Given the description of an element on the screen output the (x, y) to click on. 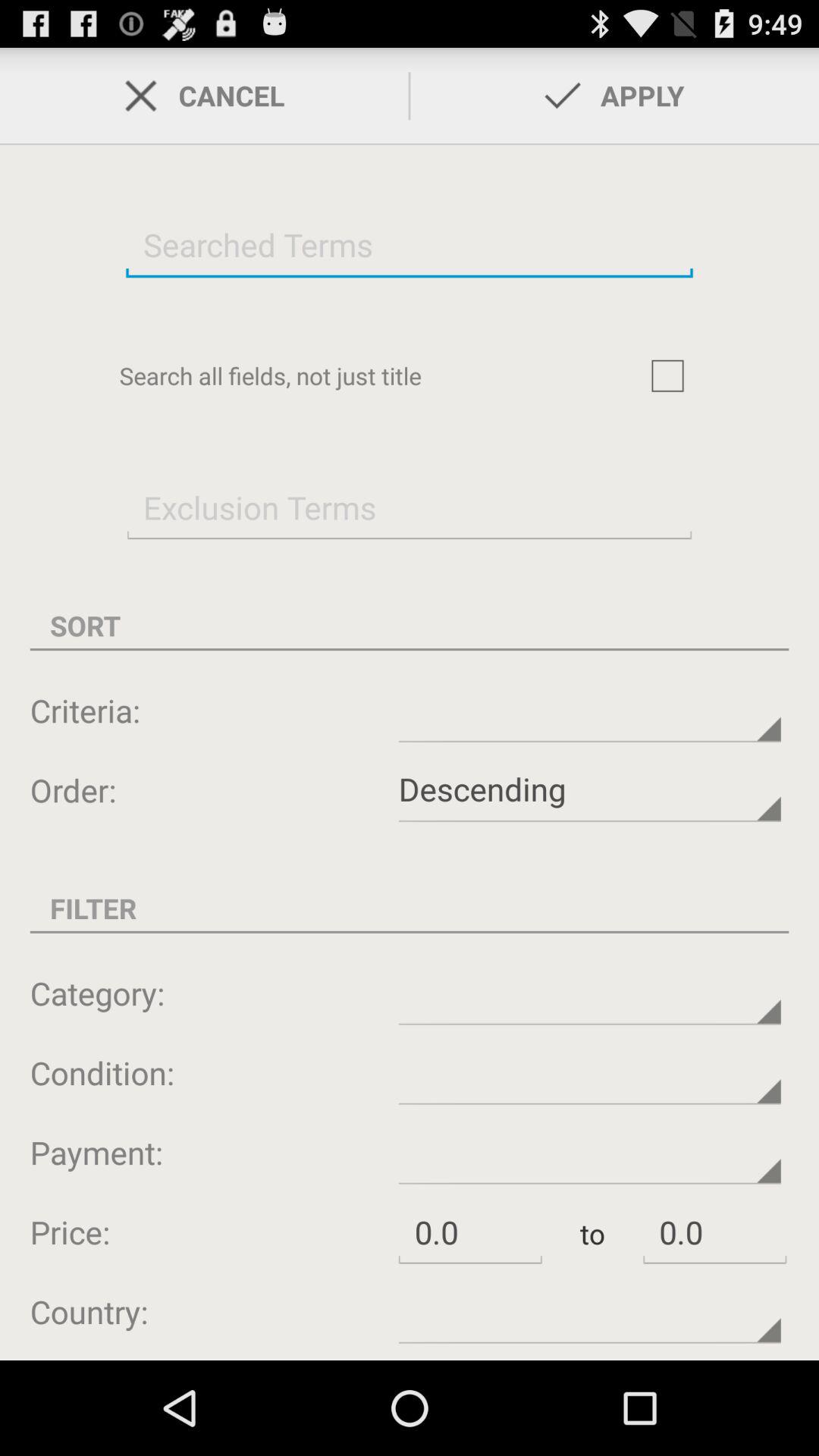
go to home (667, 375)
